Given the description of an element on the screen output the (x, y) to click on. 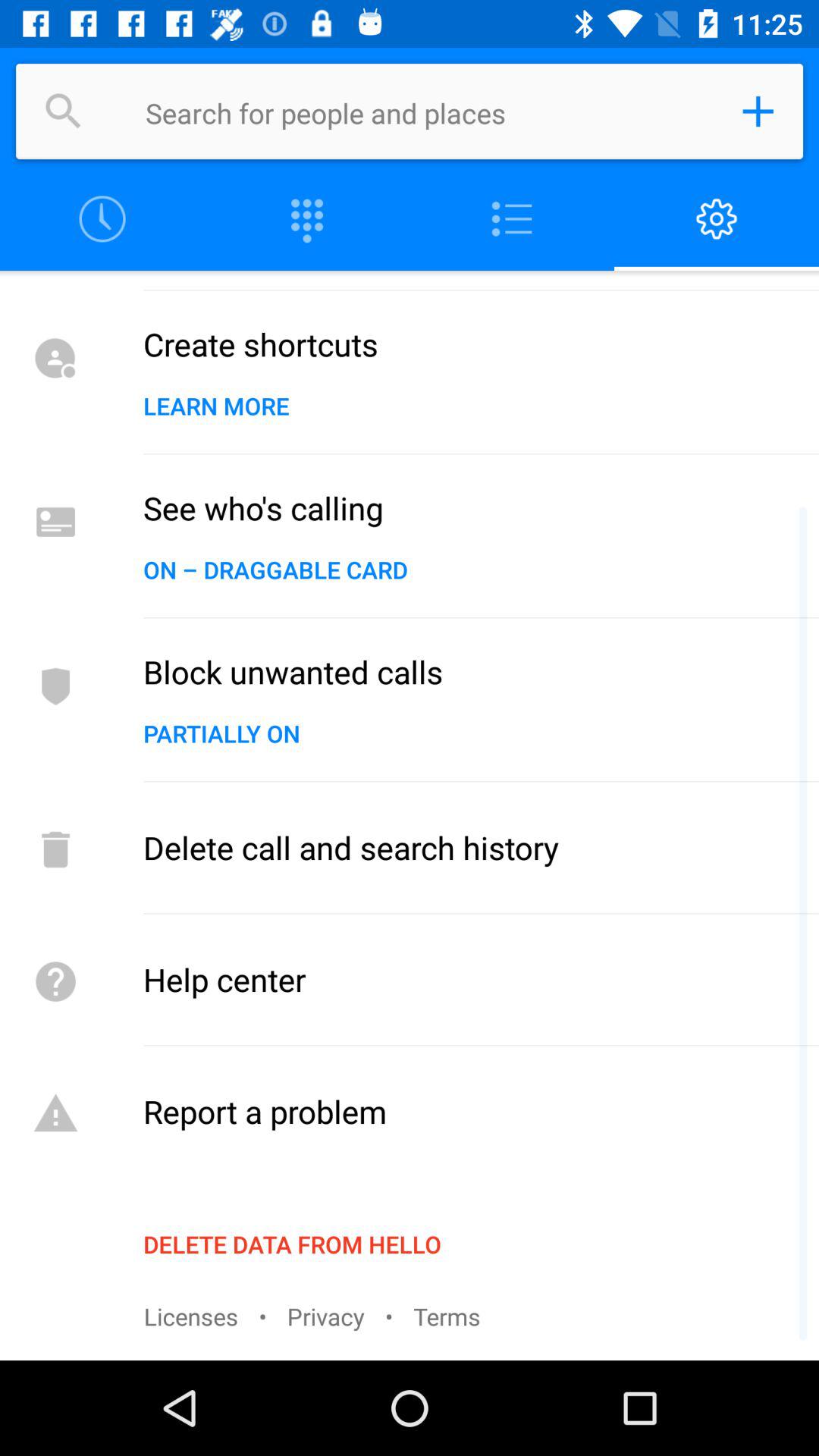
add location (757, 111)
